Given the description of an element on the screen output the (x, y) to click on. 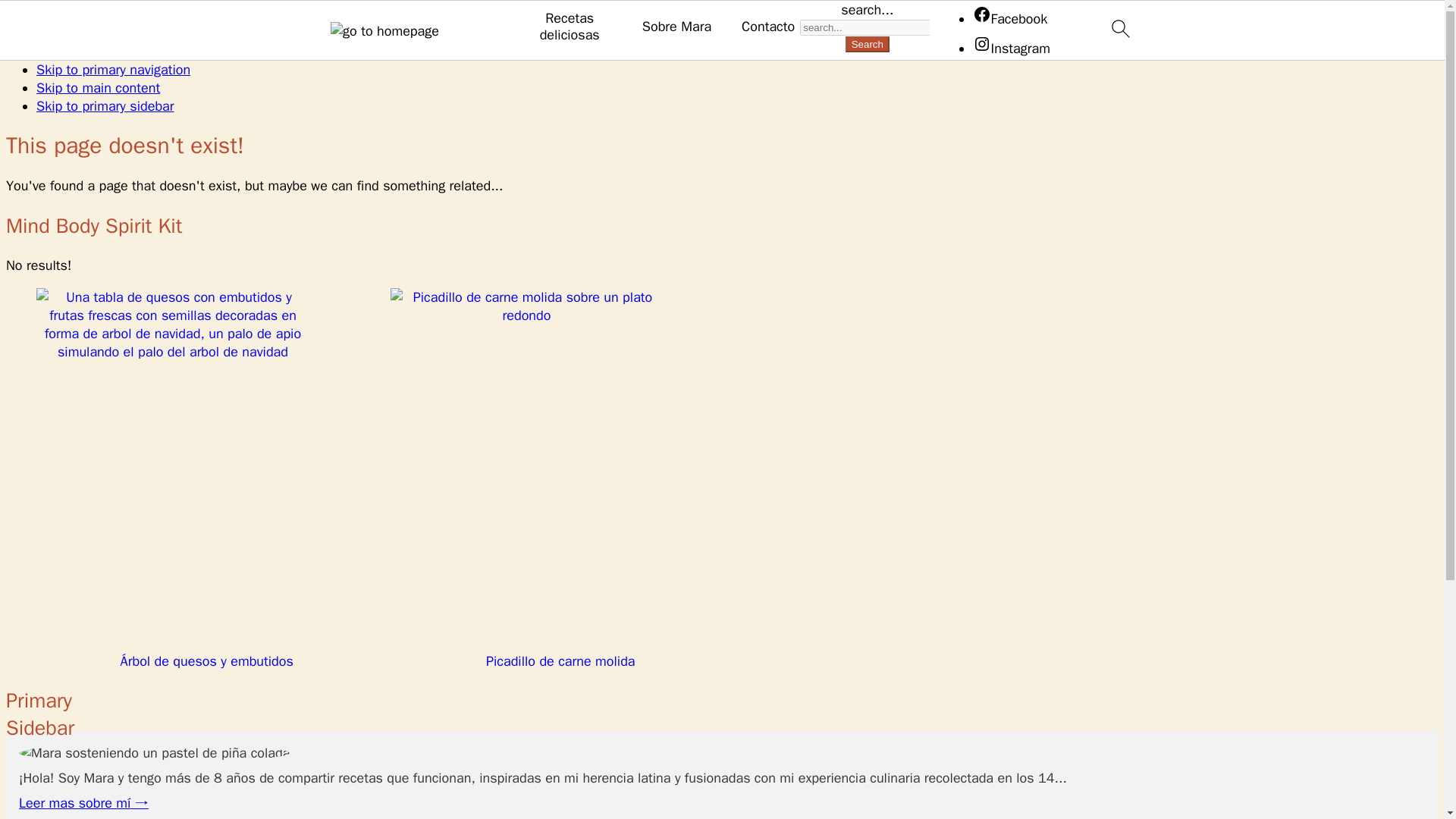
search icon (1119, 30)
Search (867, 44)
Sobre Mara (676, 27)
Picadillo de carne molida (560, 479)
Contacto (767, 27)
Instagram (1010, 47)
Facebook (1009, 18)
Skip to main content (98, 87)
search icon (1119, 28)
Search (867, 44)
